Given the description of an element on the screen output the (x, y) to click on. 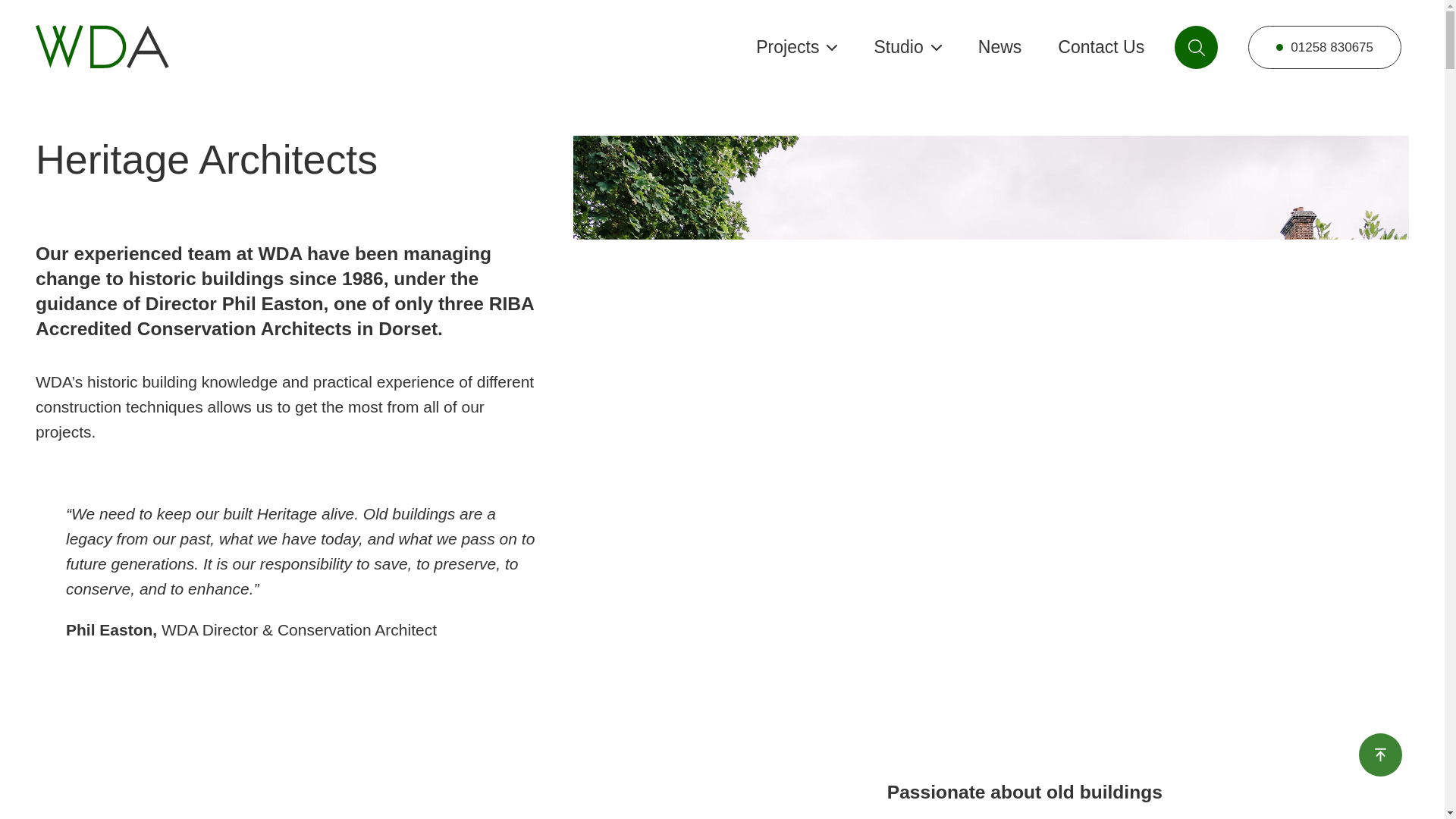
Studio (906, 46)
01258 830675 (1323, 46)
Contact Us (1101, 46)
News (1000, 46)
Projects (796, 46)
